Given the description of an element on the screen output the (x, y) to click on. 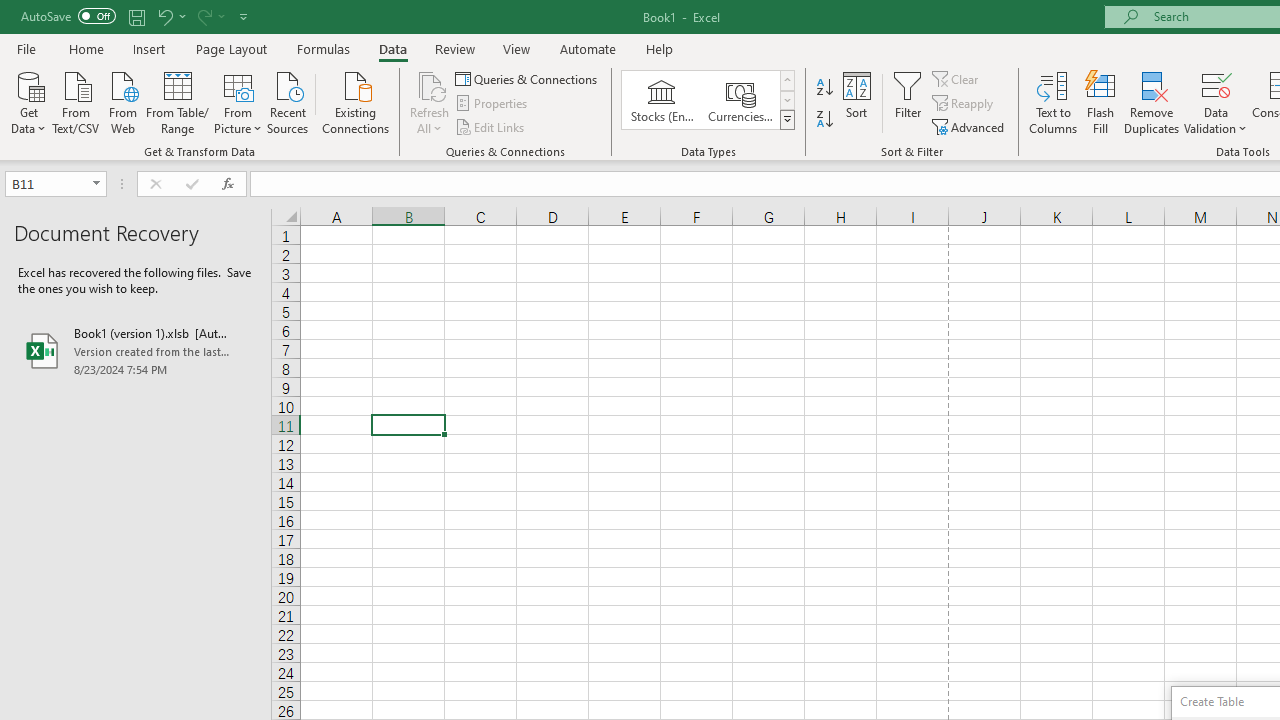
Queries & Connections (527, 78)
Sort A to Z (824, 87)
